Given the description of an element on the screen output the (x, y) to click on. 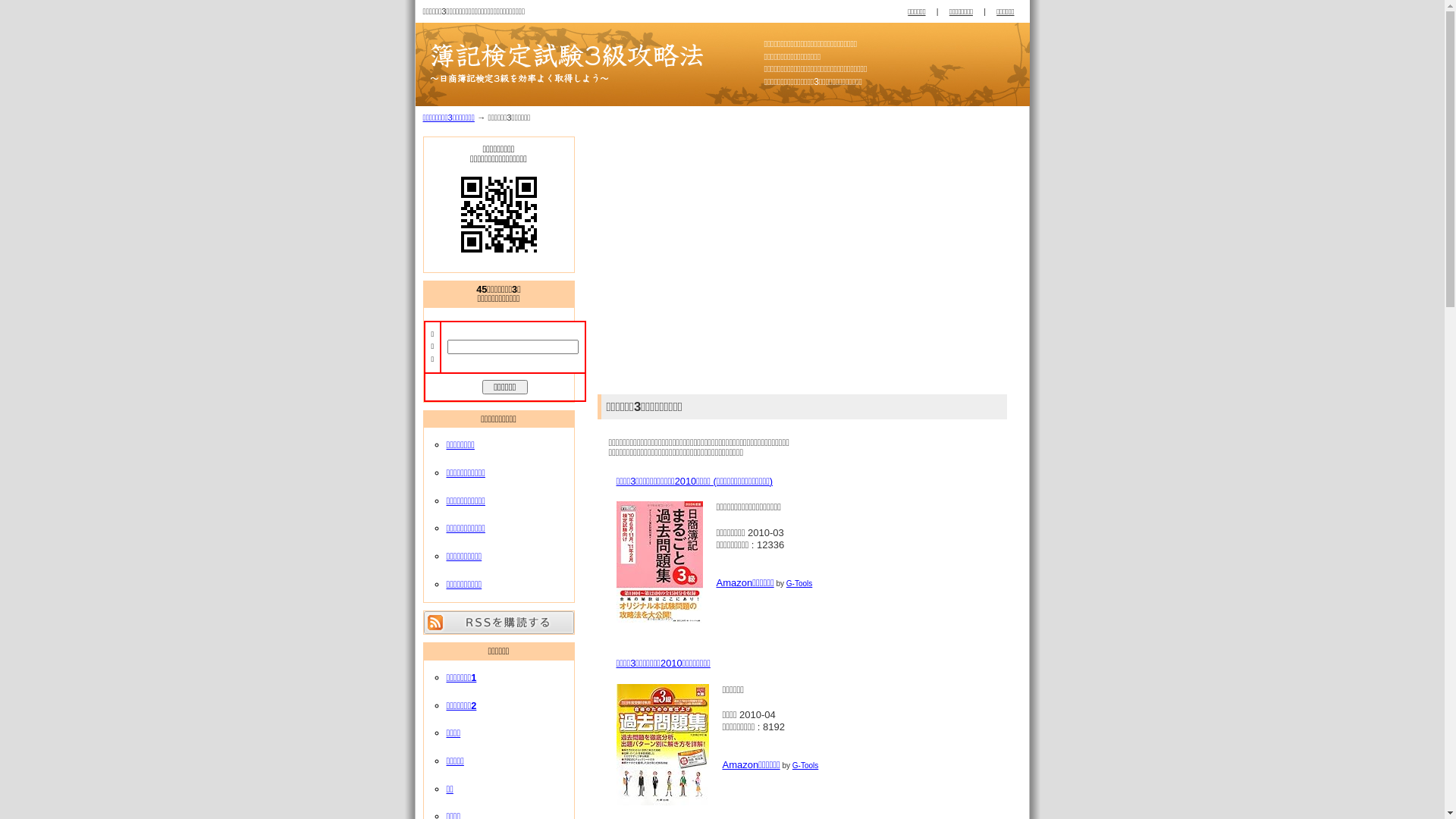
G-Tools Element type: text (805, 765)
Advertisement Element type: hover (735, 261)
G-Tools Element type: text (799, 583)
